Given the description of an element on the screen output the (x, y) to click on. 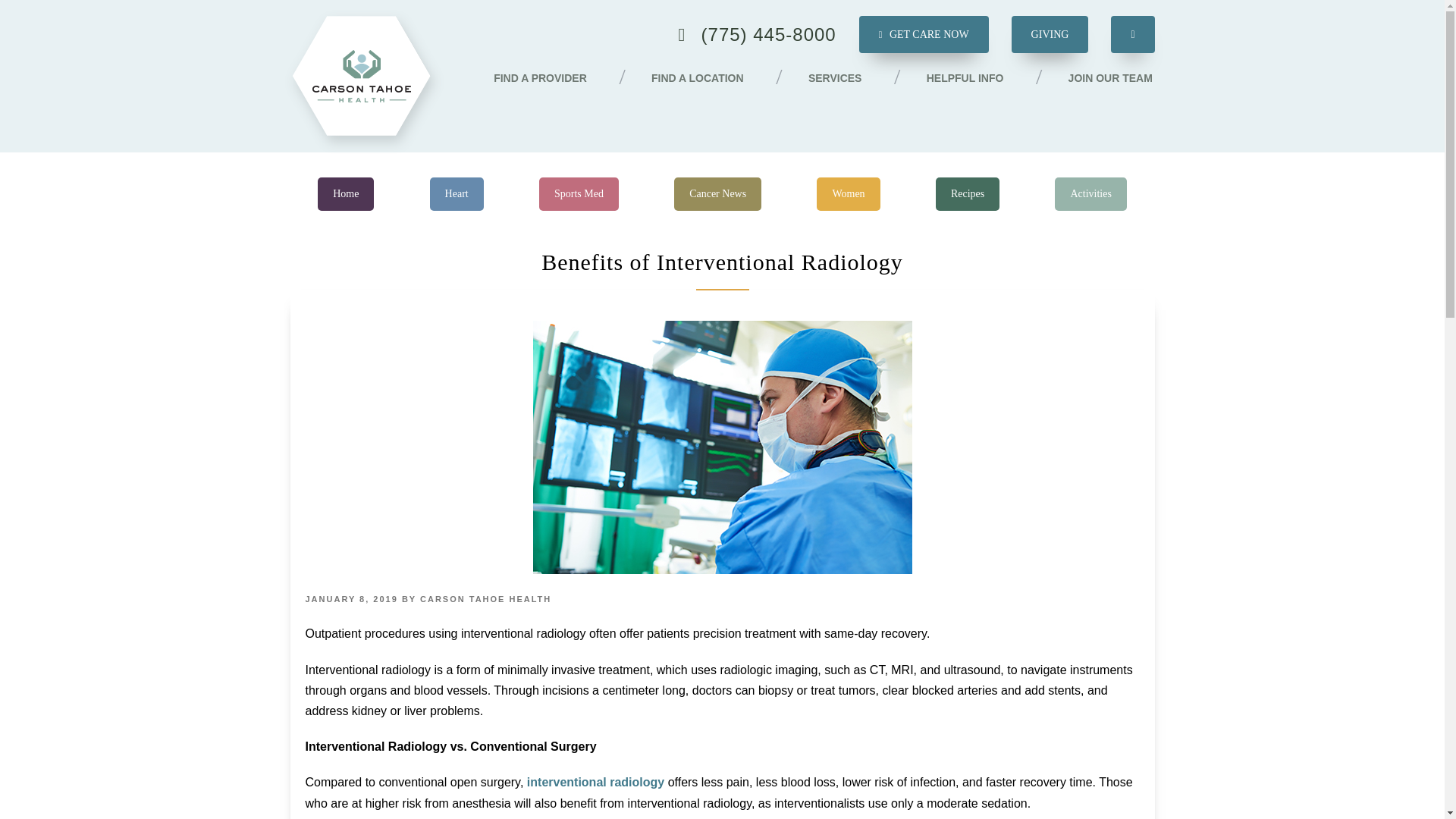
Activities (1089, 193)
GIVING (1050, 34)
Heart (456, 193)
Cancer News (717, 193)
FIND A LOCATION (697, 78)
Women (847, 193)
SERVICES (834, 78)
FIND A PROVIDER (539, 78)
GET CARE NOW (923, 34)
HELPFUL INFO (965, 78)
Sports Med (578, 193)
Helpful Info (965, 78)
interventional radiology (597, 781)
Join Our Team (1110, 78)
Call Us! (756, 34)
